Given the description of an element on the screen output the (x, y) to click on. 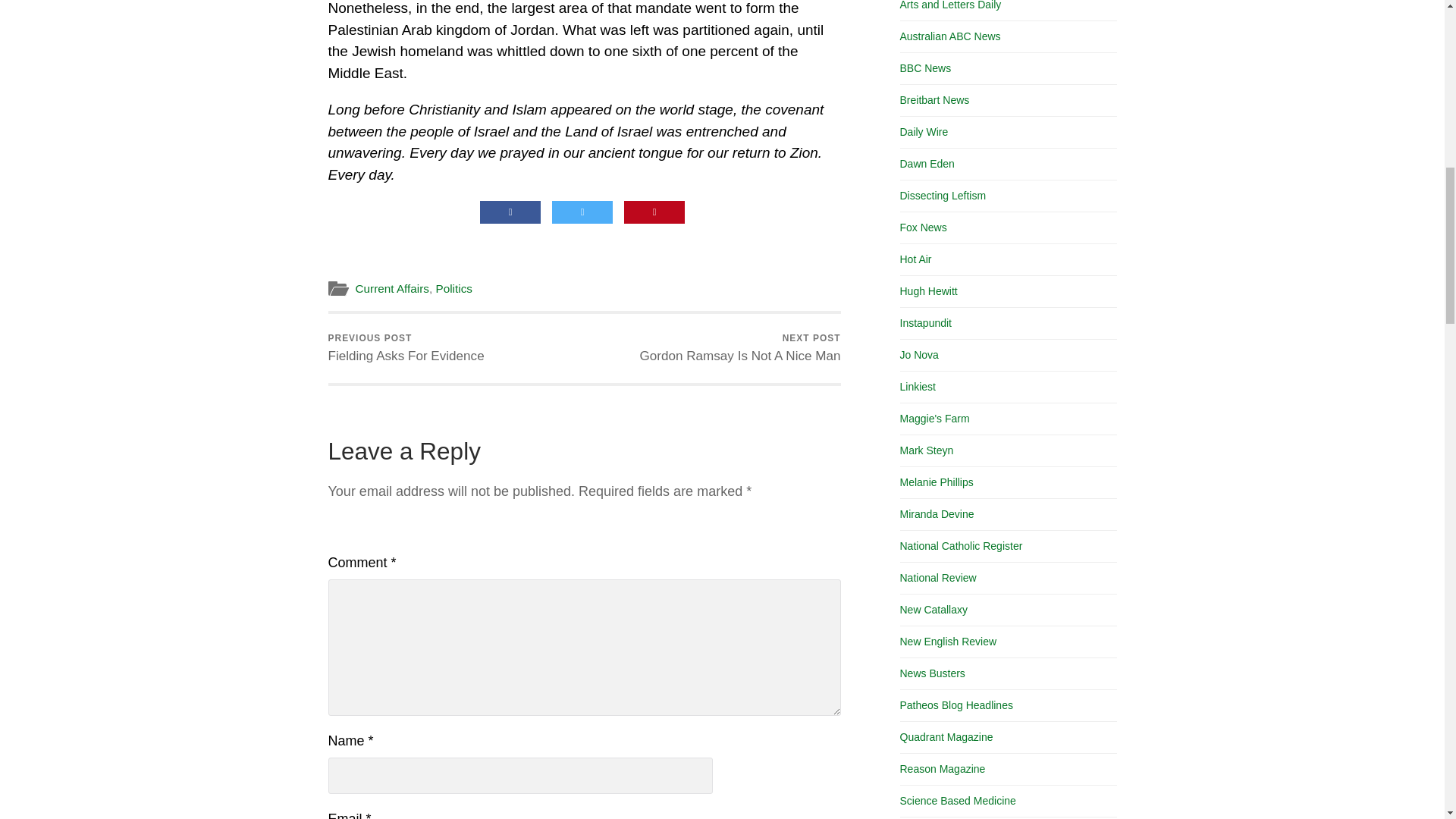
Maggie's Farm (934, 418)
Linkiest (916, 386)
Politics (453, 287)
Catholic news and devotions (960, 545)
Fox News (922, 227)
Breitbart News (934, 100)
News. From the UK. Nearly as bad as the ABC. (924, 68)
Melanie Phillips (935, 481)
BBC News (924, 68)
Arts and Letters Daily (405, 348)
Hot Air (950, 5)
